Given the description of an element on the screen output the (x, y) to click on. 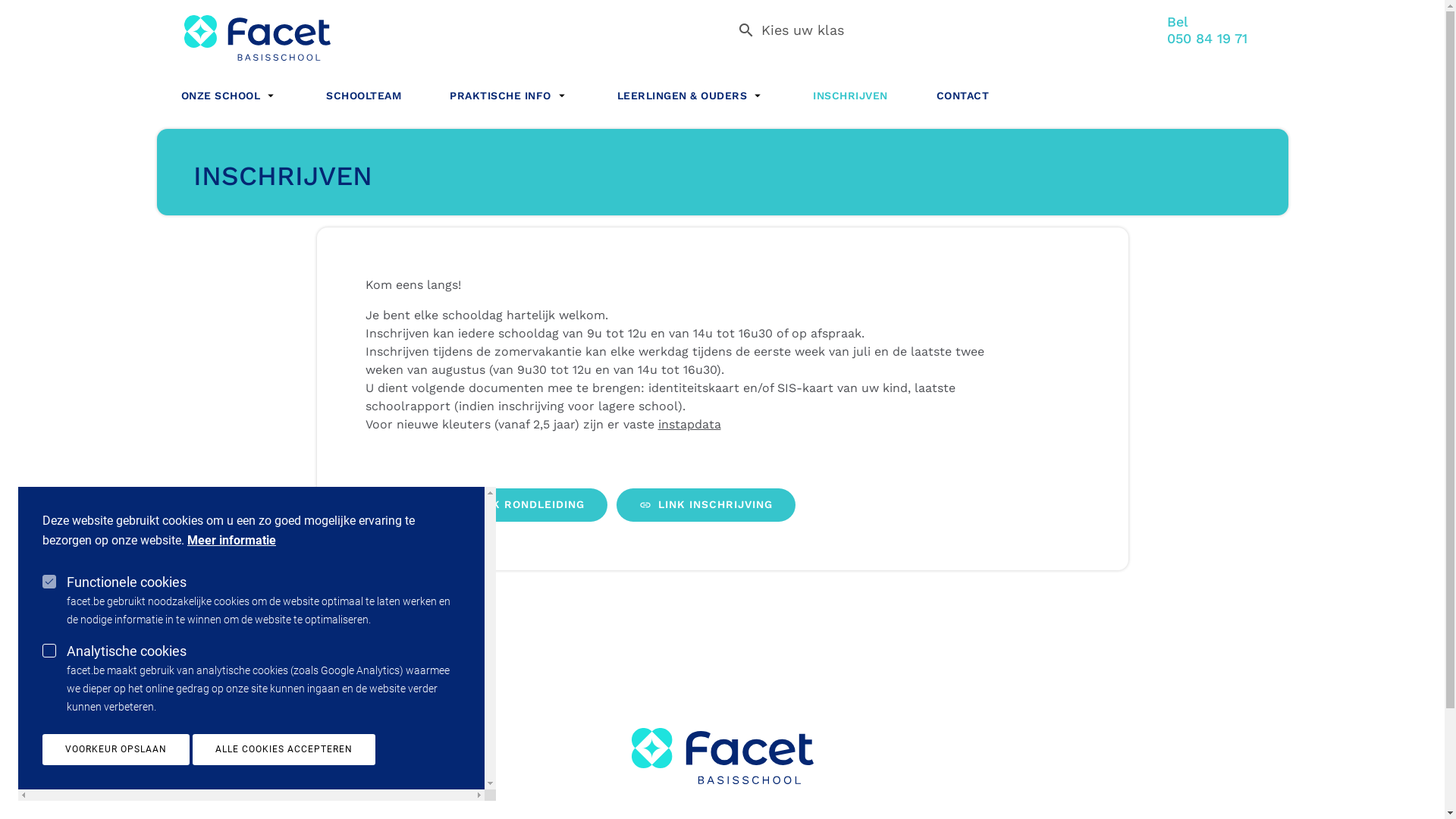
INSCHRIJVEN Element type: text (850, 92)
link LINK INSCHRIJVING Element type: text (704, 504)
facet Element type: hover (242, 30)
PRAKTISCHE INFO Element type: text (509, 92)
LEERLINGEN & OUDERS Element type: text (691, 92)
Bel
050 84 19 71 Element type: text (1206, 30)
ONZE SCHOOL Element type: text (228, 92)
Meer informatie Element type: text (231, 540)
ALLE COOKIES ACCEPTEREN Element type: text (283, 749)
link LINK AFSPRAAK RONDLEIDING Element type: text (486, 504)
CONTACT Element type: text (949, 92)
VOORKEUR OPSLAAN Element type: text (115, 749)
instapdata Element type: text (689, 424)
SCHOOLTEAM Element type: text (363, 92)
facet Element type: hover (721, 756)
